Given the description of an element on the screen output the (x, y) to click on. 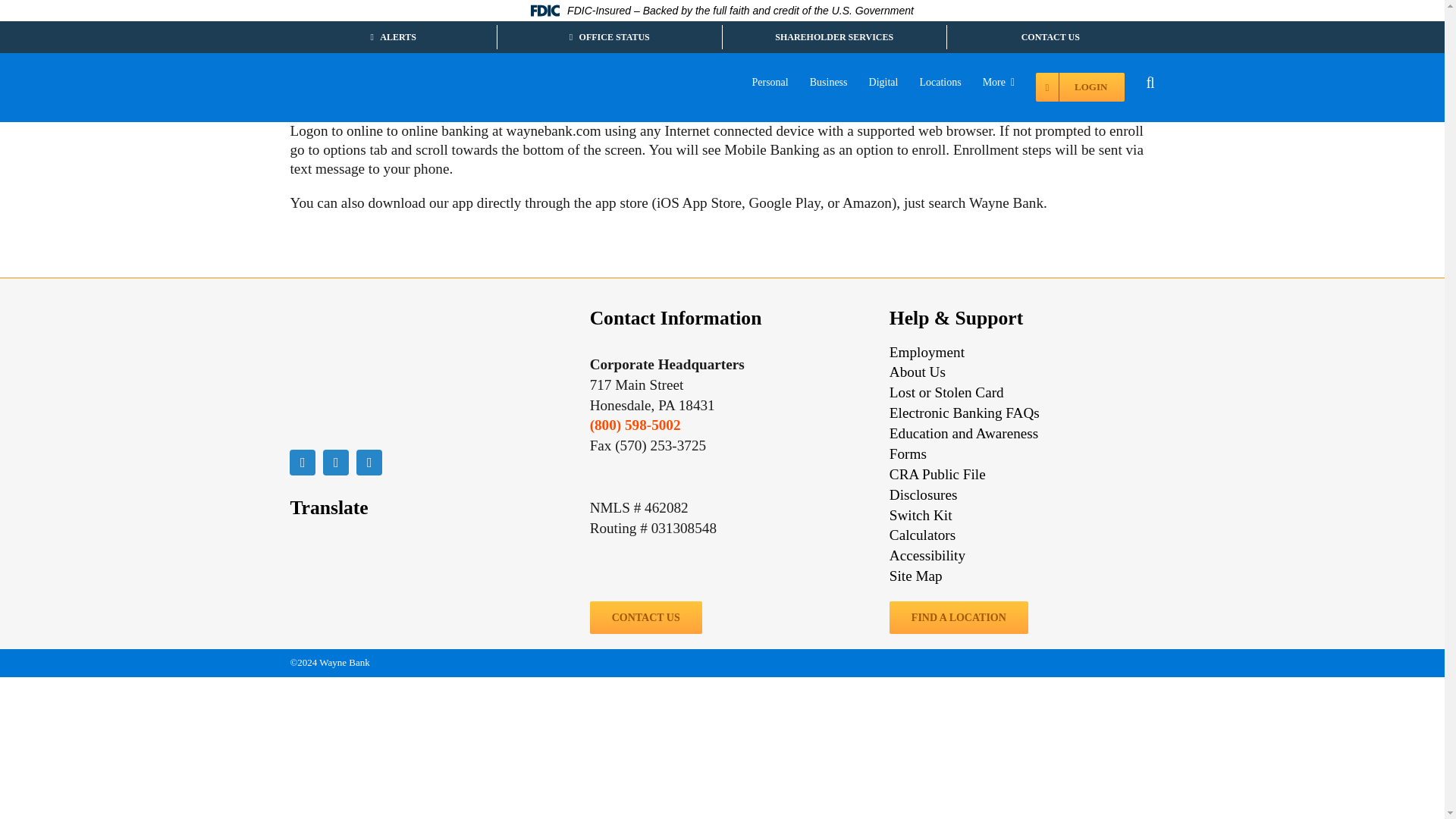
CONTACT US (1050, 37)
ALERTS (392, 37)
LOGIN (1079, 86)
LOGO-stacked-1000-2-nofdic (365, 371)
Instagram (368, 462)
Facebook (302, 462)
OFFICE STATUS (609, 37)
Digital (883, 87)
Personal (770, 87)
Business (828, 87)
